Given the description of an element on the screen output the (x, y) to click on. 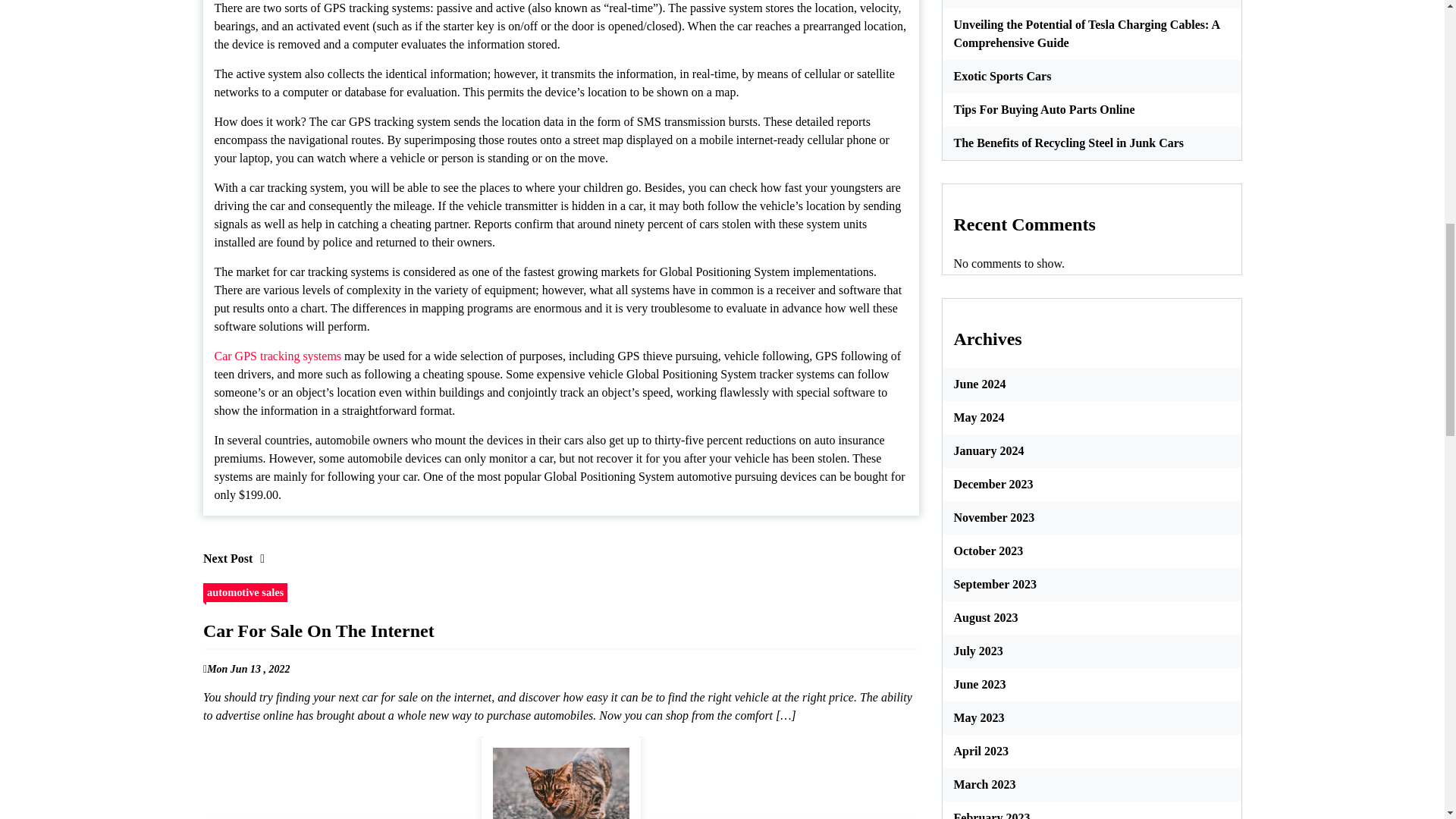
Car For Sale On The Internet (560, 777)
